Given the description of an element on the screen output the (x, y) to click on. 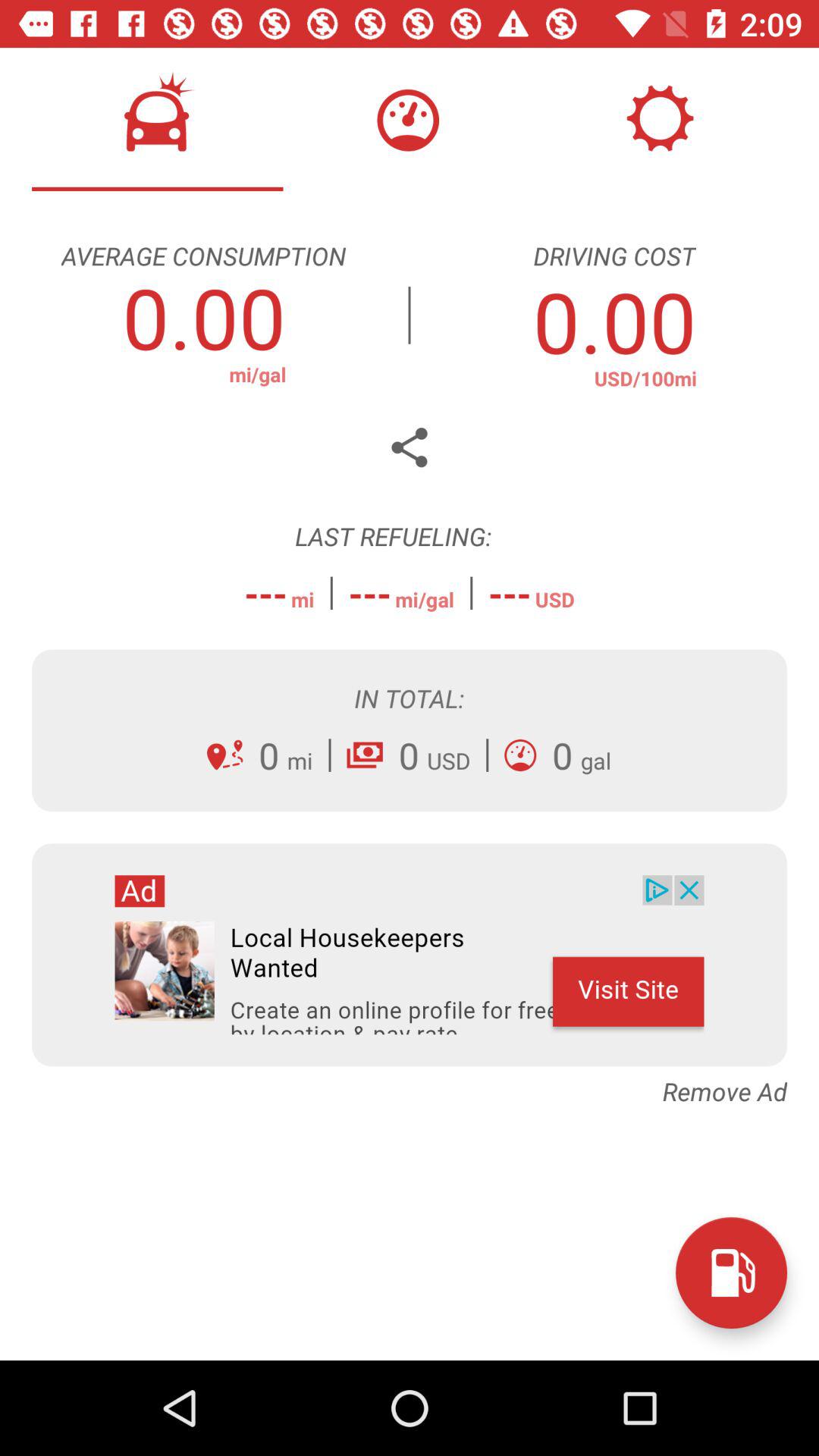
get fuel (731, 1272)
